Given the description of an element on the screen output the (x, y) to click on. 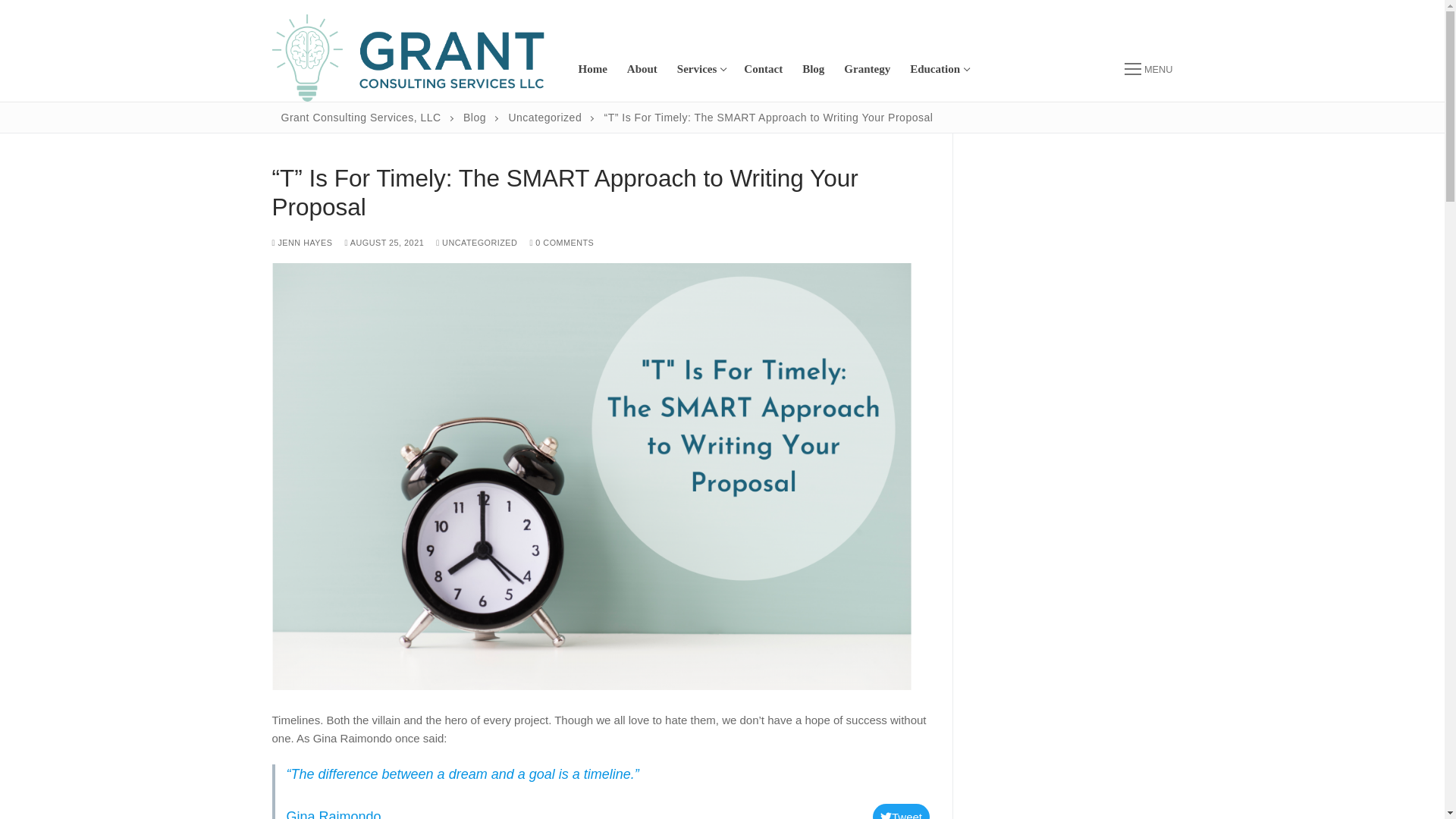
MENU (1148, 68)
Home (593, 69)
Go to Blog. (474, 117)
Go to Grant Consulting Services, LLC. (699, 69)
Grantegy (361, 117)
About (937, 69)
Blog (866, 69)
Go to the Uncategorized Category archives. (641, 69)
Contact (813, 69)
